Given the description of an element on the screen output the (x, y) to click on. 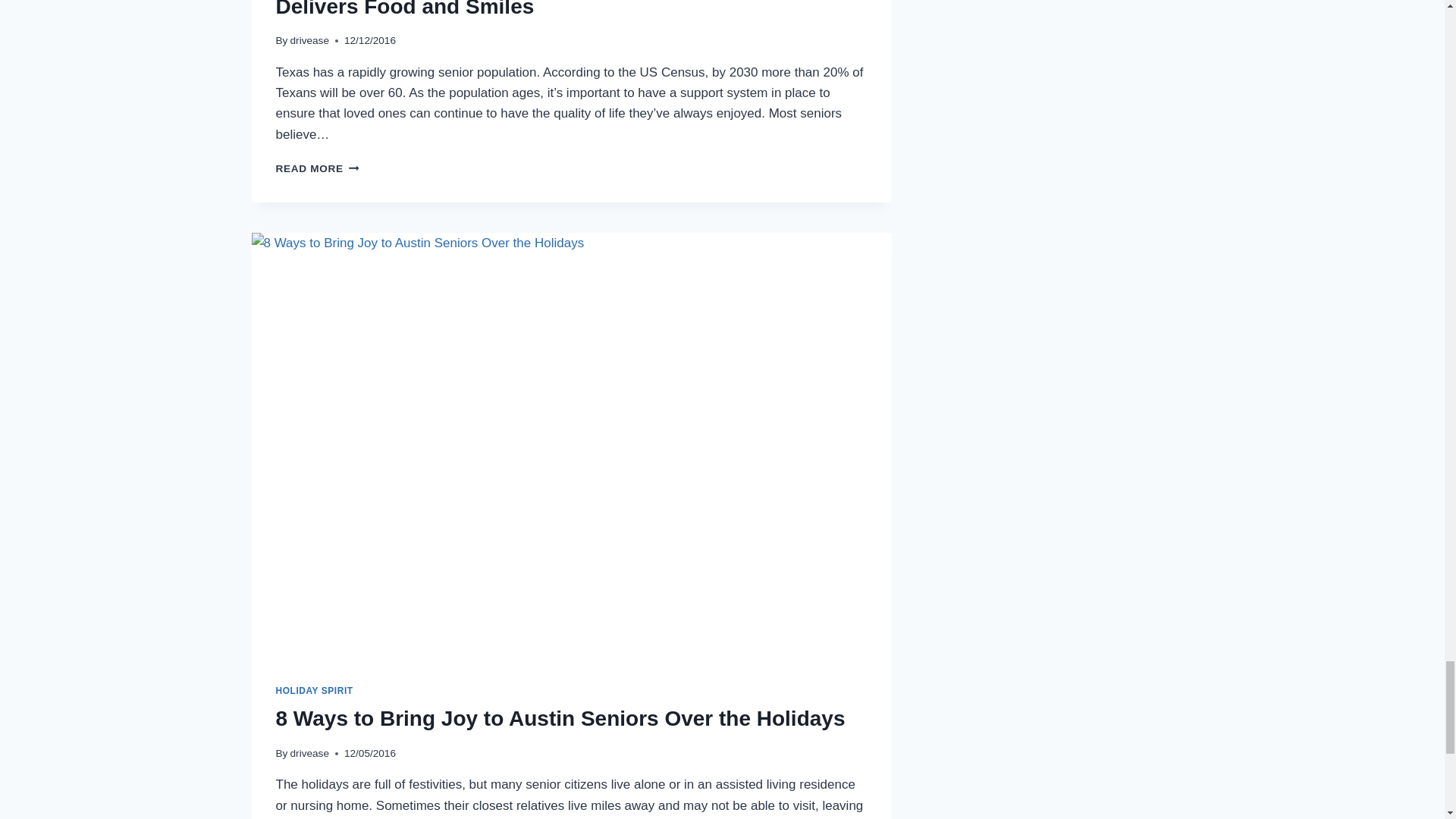
drivease (309, 40)
